Given the description of an element on the screen output the (x, y) to click on. 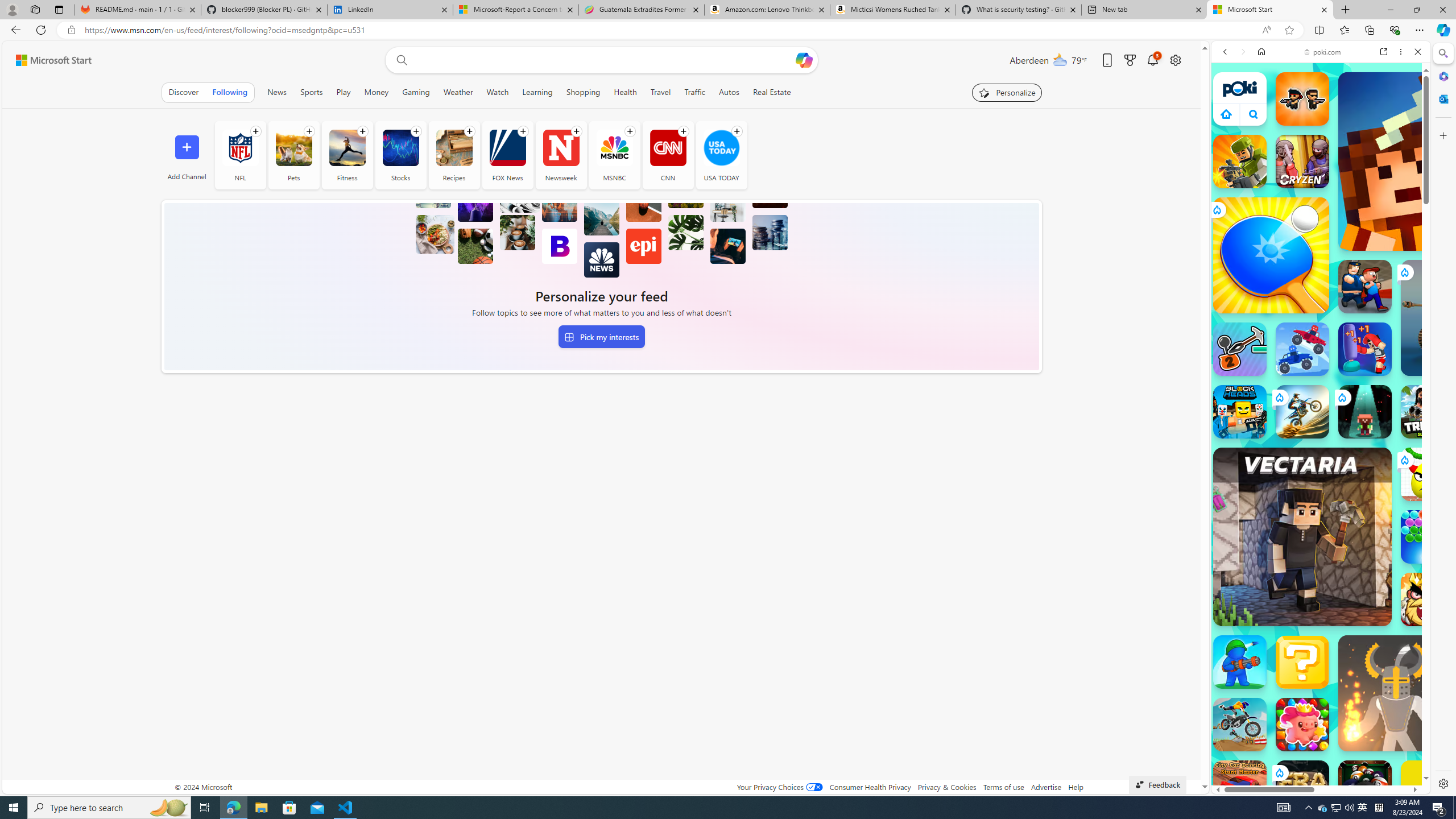
Escape From School (1364, 286)
Io Games (1320, 350)
War Master War Master (1239, 661)
Sports Games (1320, 379)
Combat Reloaded (1349, 523)
Stocks (400, 155)
Stocks (400, 147)
Shooting Games (1320, 295)
Pets (293, 155)
